Given the description of an element on the screen output the (x, y) to click on. 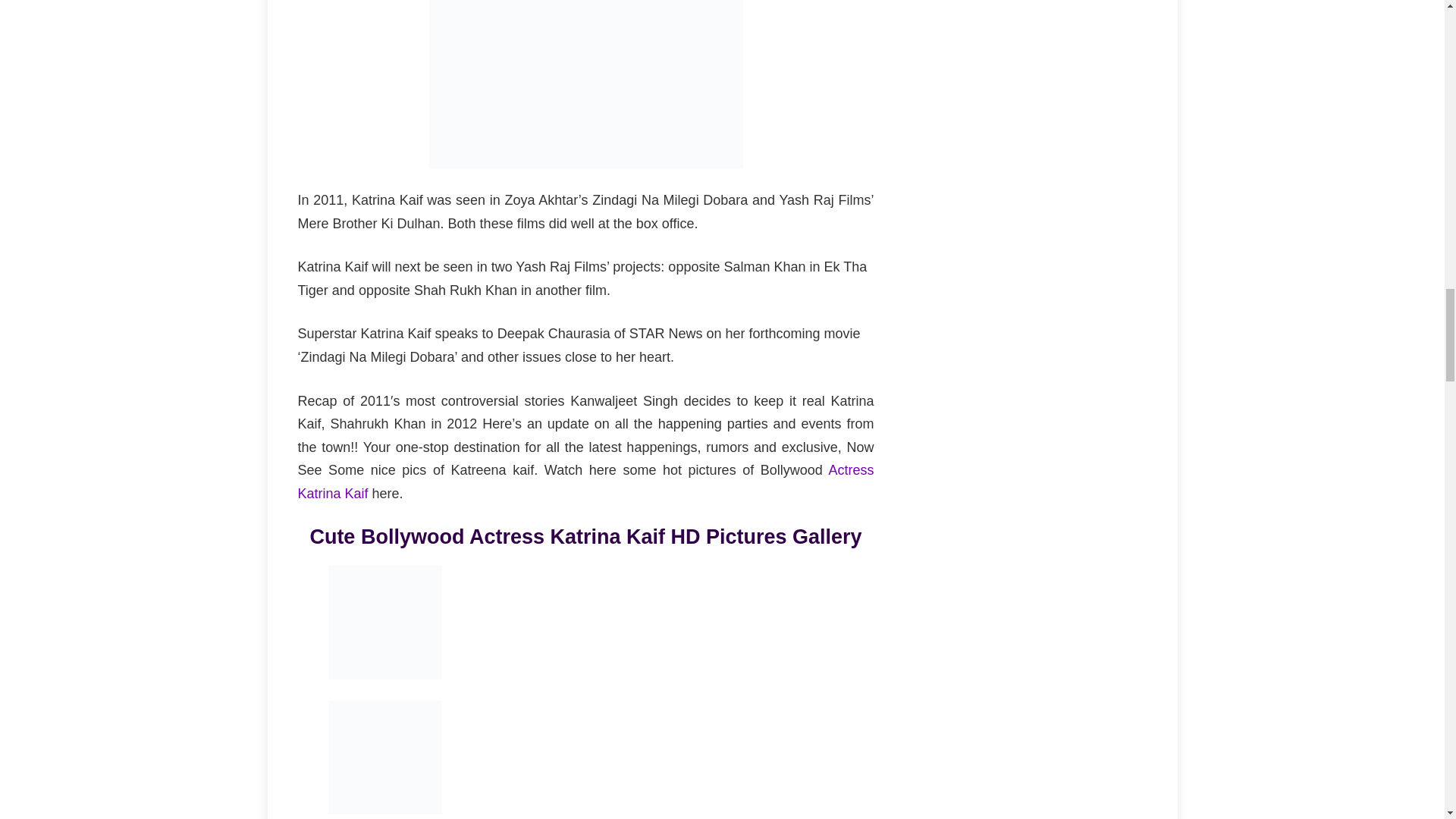
Top Bollywood Actress Katrina Kaif 3 (585, 84)
Top Bollywood Actress Katrina Kaif 5 (384, 757)
Actress Katrina Kaif (585, 481)
Top Bollywood Actress Katrina Kaif 4 (384, 622)
